Given the description of an element on the screen output the (x, y) to click on. 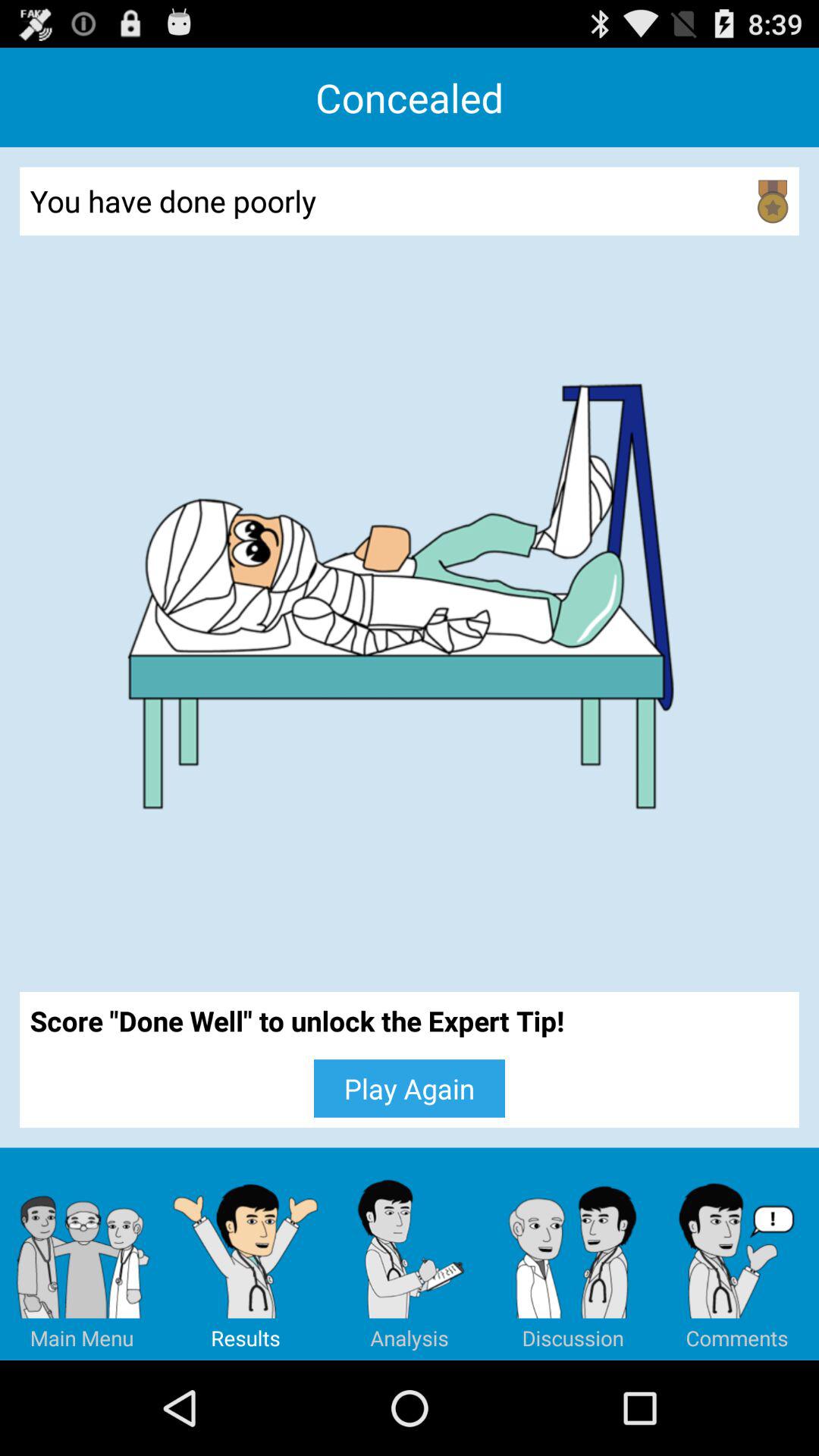
turn on the item below the play again button (245, 1253)
